Given the description of an element on the screen output the (x, y) to click on. 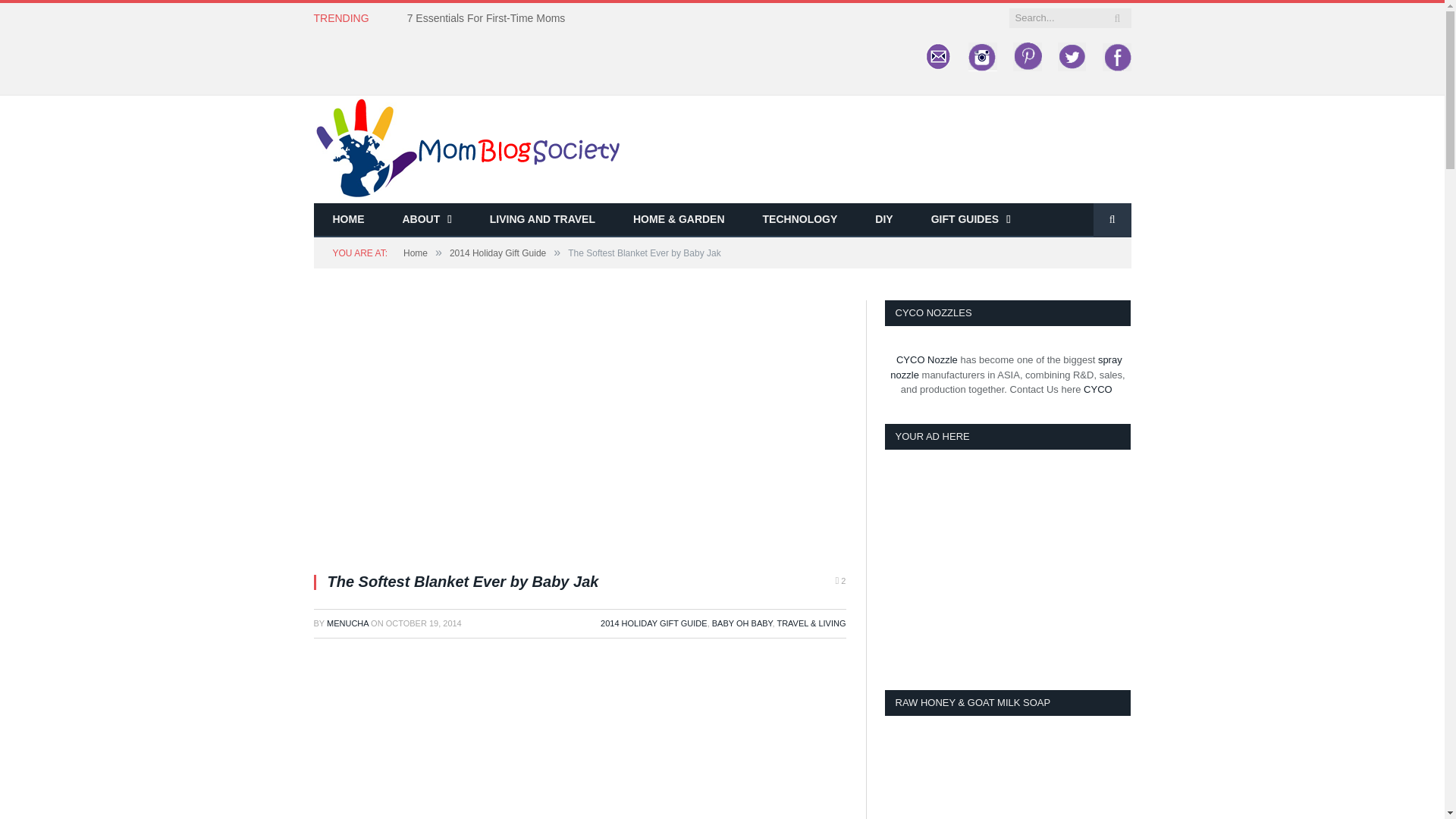
Mom Blog Society (467, 146)
GIFT GUIDES (970, 220)
ABOUT (427, 220)
LIVING AND TRAVEL (542, 220)
7 Essentials For First-Time Moms (490, 18)
7 Essentials For First-Time Moms (490, 18)
HOME (349, 220)
TECHNOLOGY (800, 220)
DIY (883, 220)
